Given the description of an element on the screen output the (x, y) to click on. 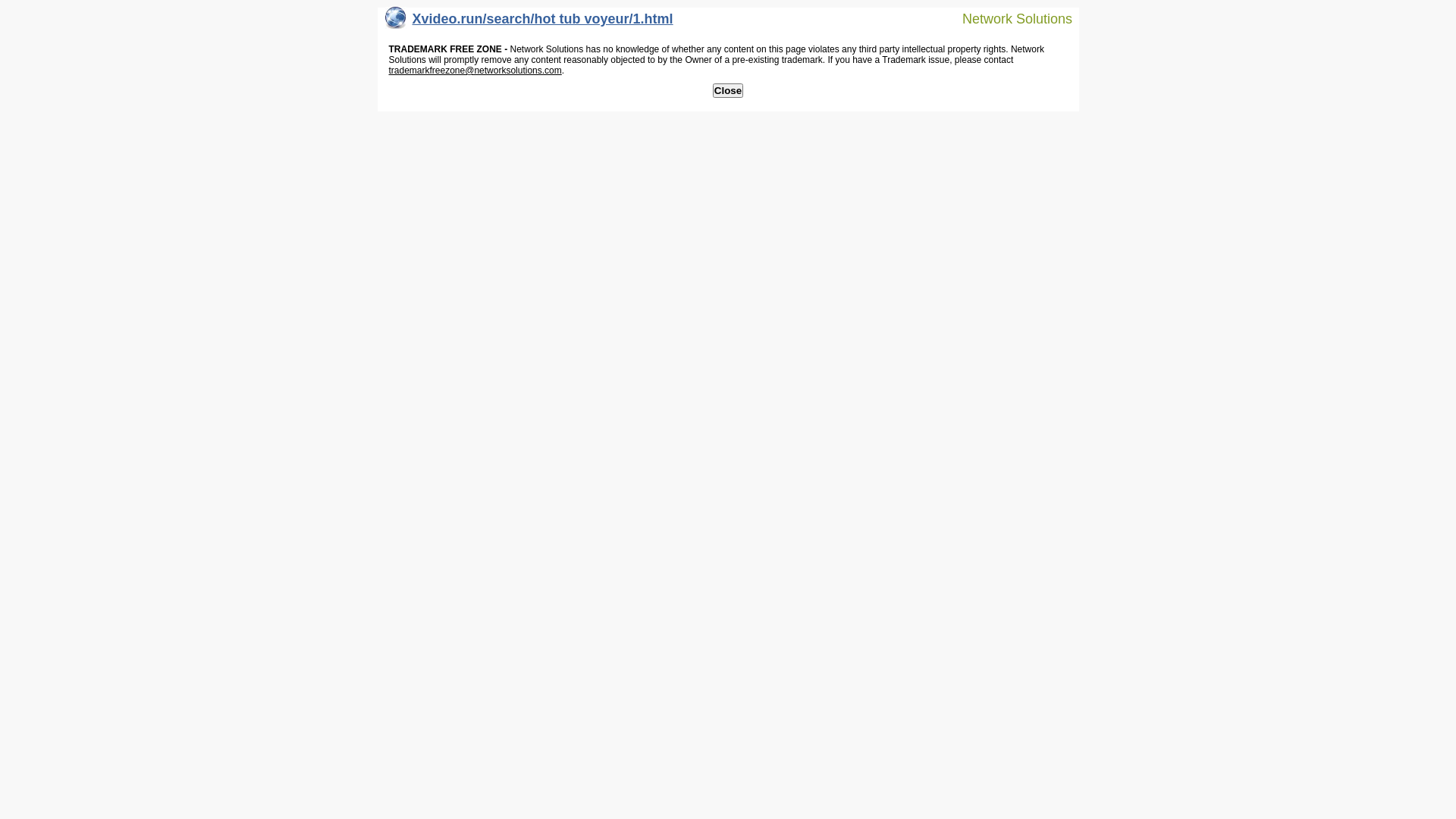
Network Solutions Element type: text (1007, 17)
trademarkfreezone@networksolutions.com Element type: text (474, 70)
Xvideo.run/search/hot tub voyeur/1.html Element type: text (529, 21)
Close Element type: text (727, 90)
